Given the description of an element on the screen output the (x, y) to click on. 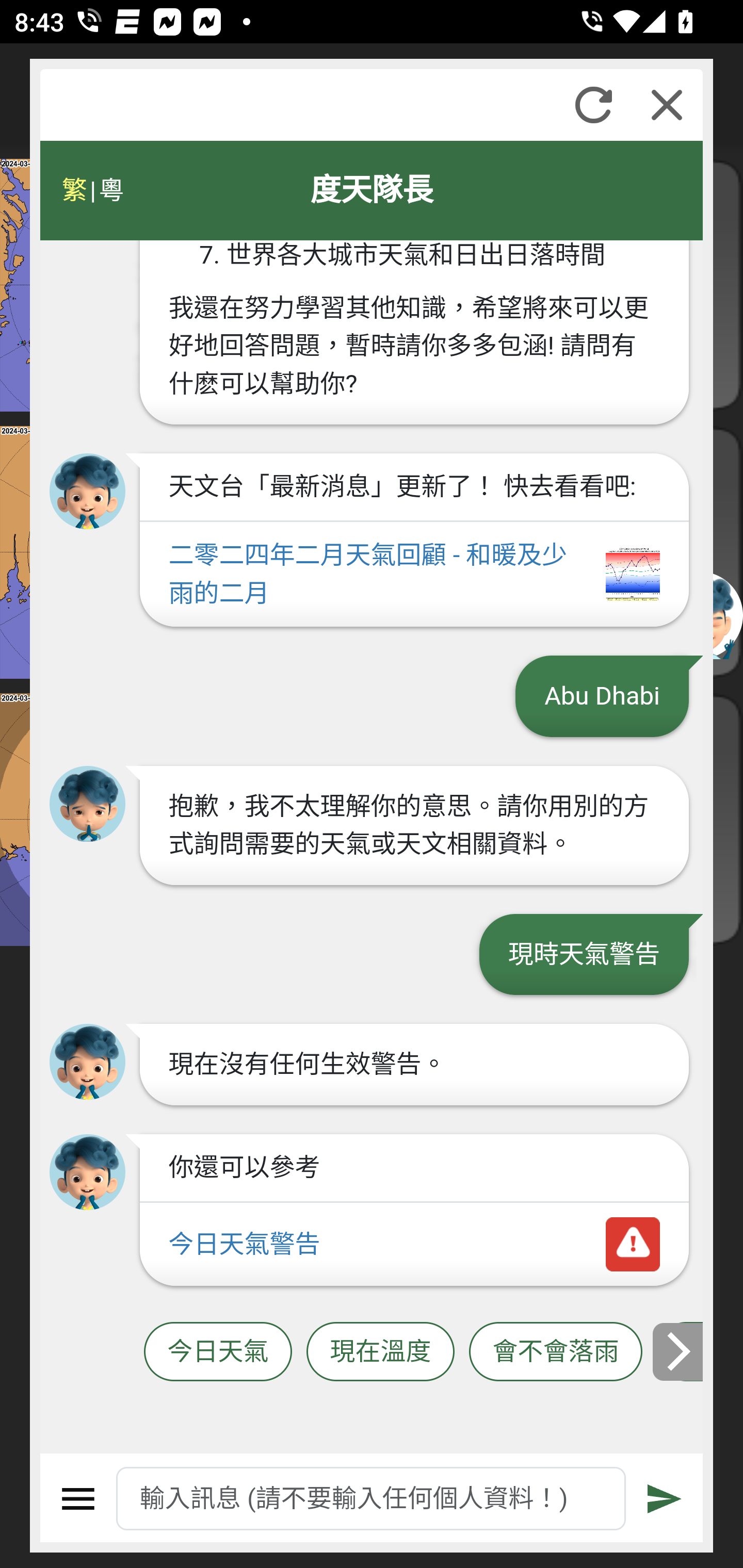
重新整理 (593, 104)
關閉 (666, 104)
繁 (73, 190)
粵 (110, 190)
二零二四年二月天氣回顧 - 和暖及少雨的二月 (413, 575)
今日天氣警告 (413, 1244)
今日天氣 (217, 1351)
現在溫度 (380, 1351)
會不會落雨 (555, 1351)
下一張 (678, 1351)
選單 (78, 1498)
遞交 (665, 1498)
